Given the description of an element on the screen output the (x, y) to click on. 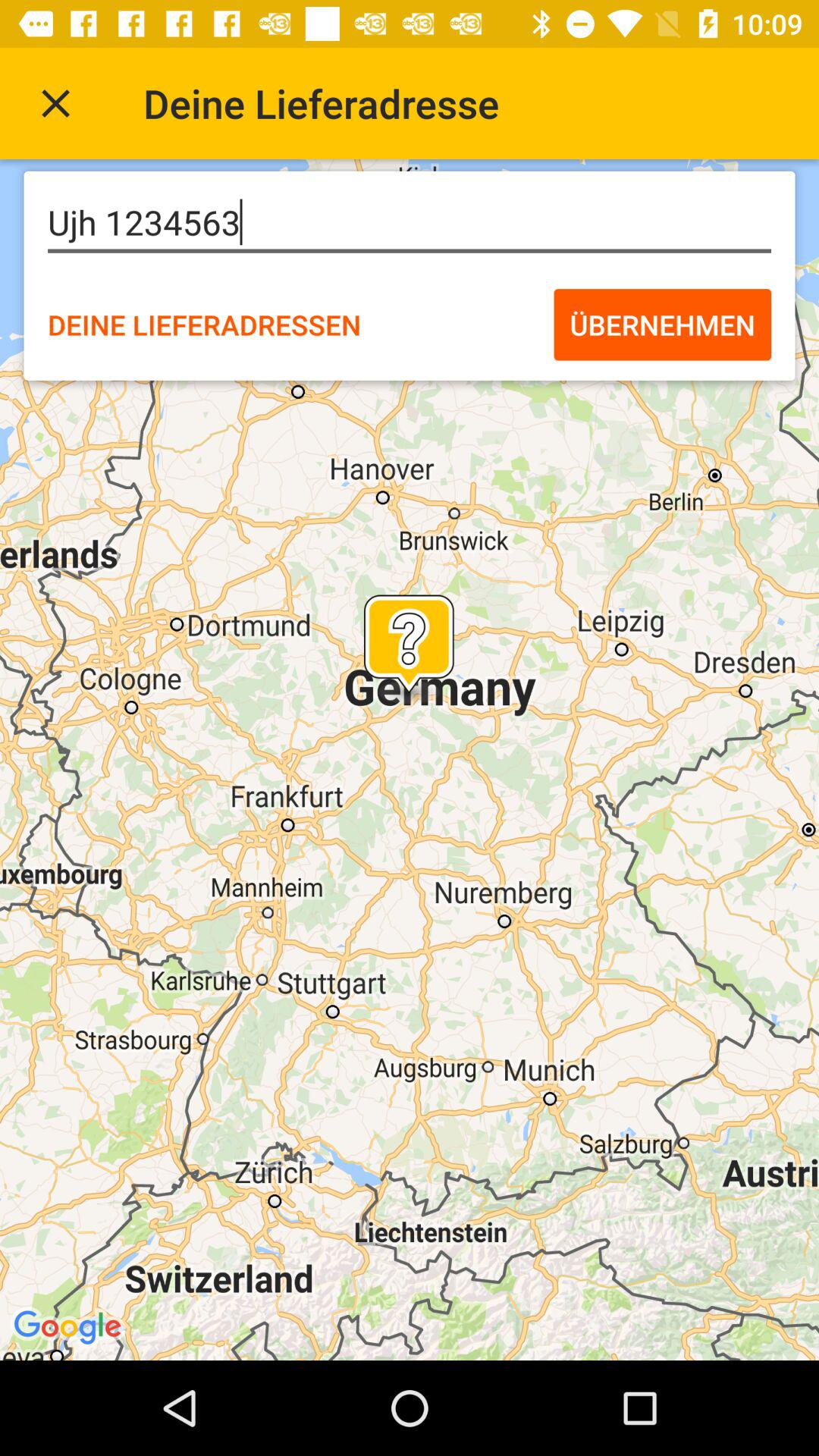
close this map (55, 103)
